Given the description of an element on the screen output the (x, y) to click on. 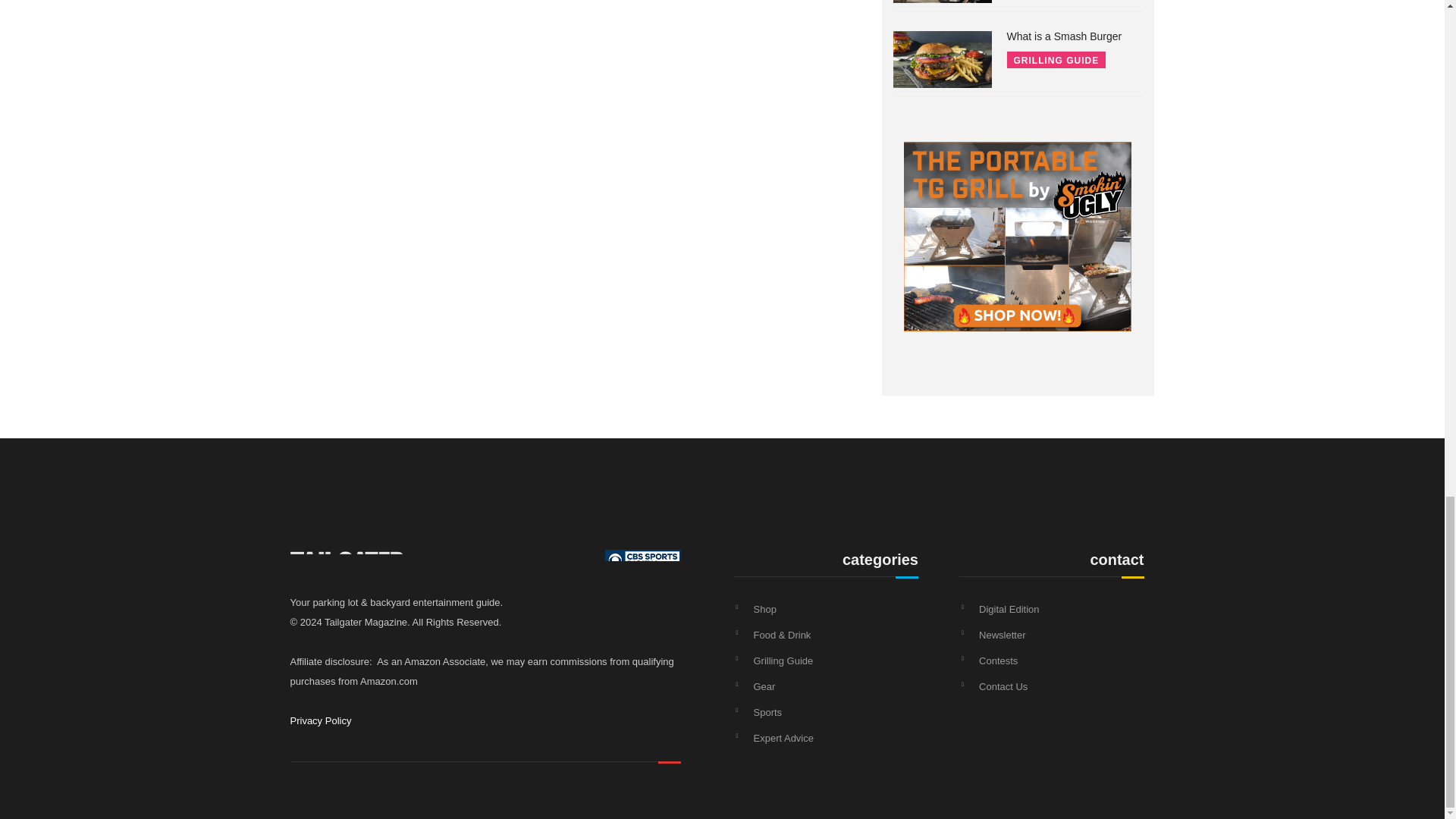
Shop (765, 609)
Privacy Policy (319, 720)
What is a Smash Burger (1064, 36)
